Given the description of an element on the screen output the (x, y) to click on. 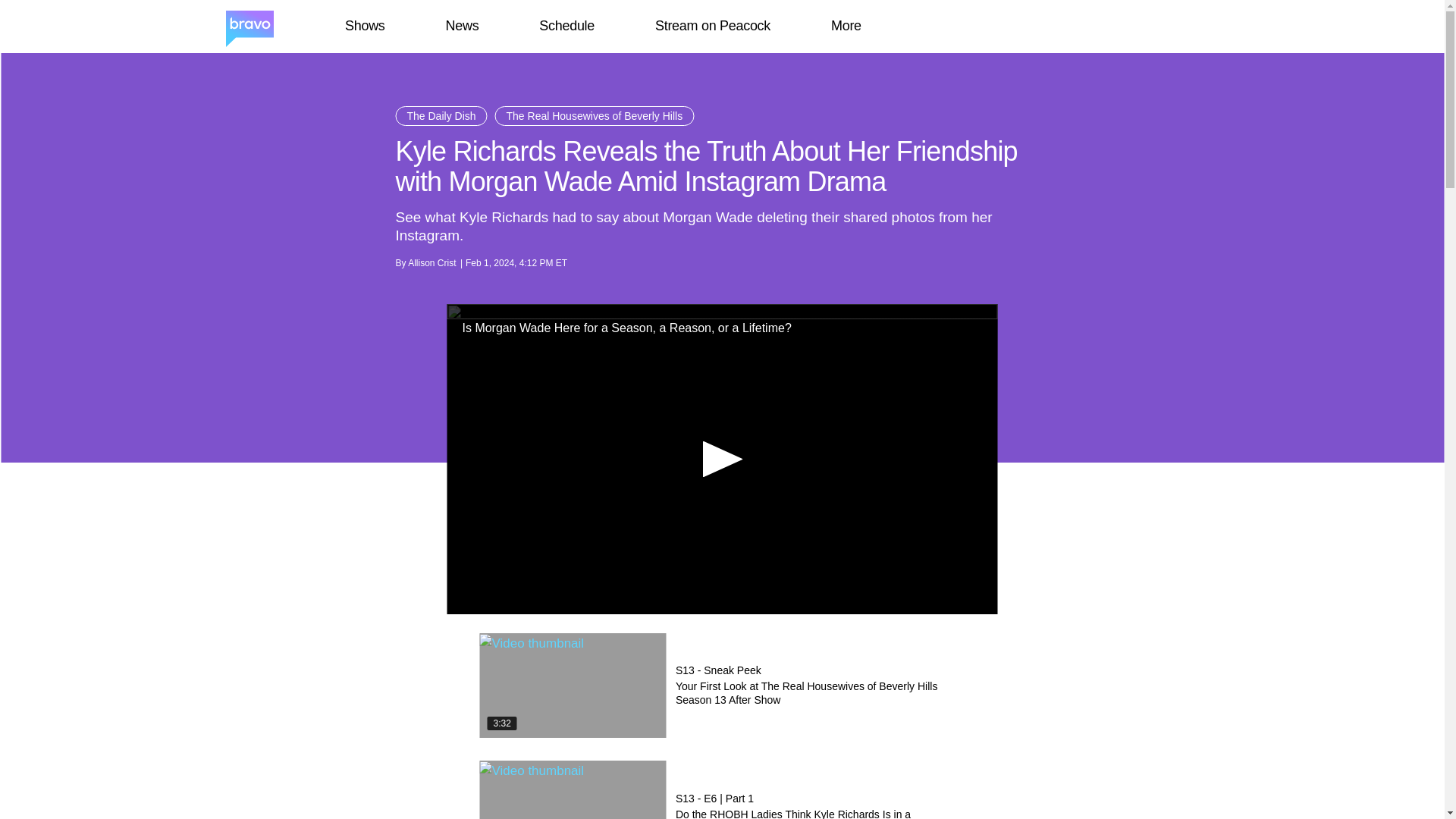
News (462, 26)
More (846, 26)
Stream on Peacock (712, 26)
Home (249, 26)
The Real Housewives of Beverly Hills (594, 116)
Shows (363, 26)
The Daily Dish (441, 116)
Allison Crist (431, 262)
Schedule (566, 26)
